Given the description of an element on the screen output the (x, y) to click on. 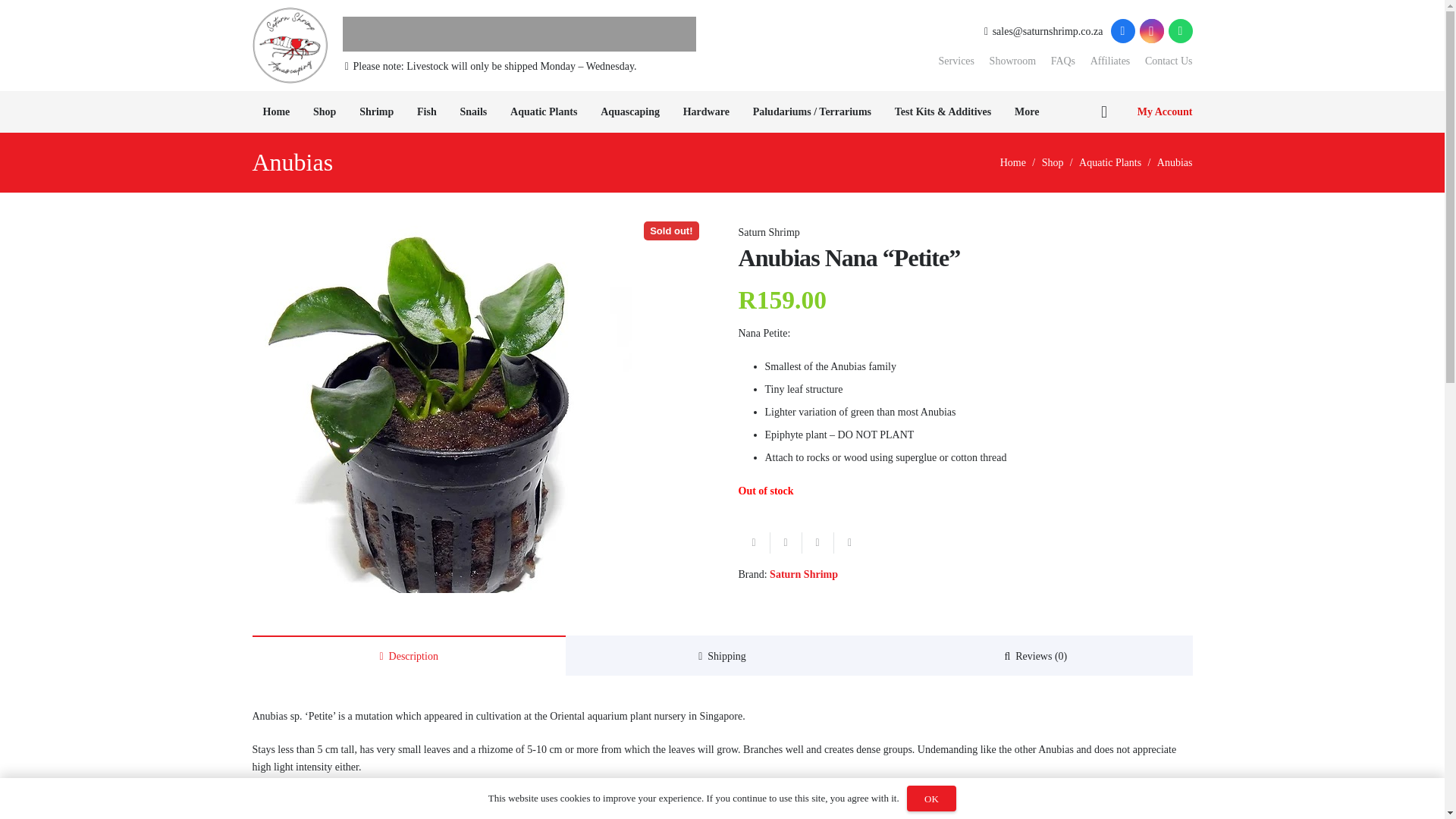
FAQs (1063, 60)
Shop (324, 111)
Tweet this (818, 542)
Snails (472, 111)
Email this (754, 542)
Shrimp (376, 111)
Share this (850, 542)
WhatsApp (1179, 30)
Share this (786, 542)
Instagram (1150, 30)
